Given the description of an element on the screen output the (x, y) to click on. 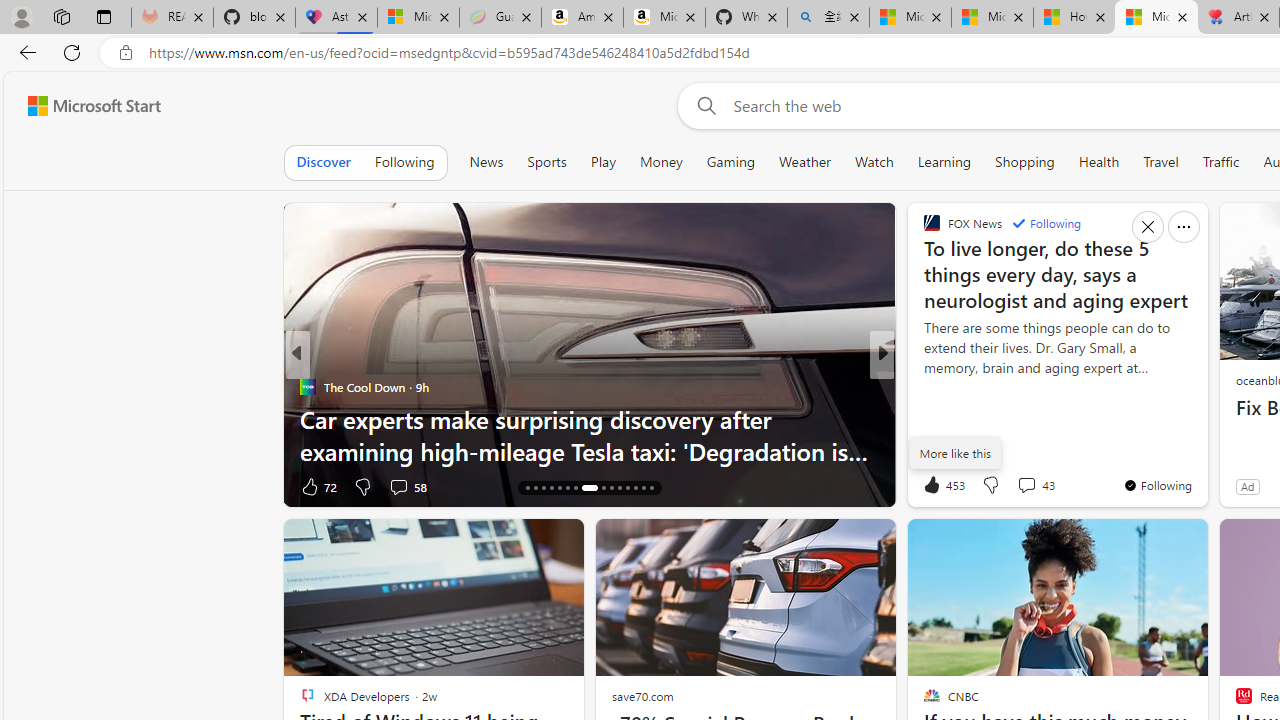
AutomationID: tab-29 (642, 487)
FOX News (923, 386)
save70.com (642, 696)
2k Like (933, 486)
INSIDER (923, 386)
453 Like (942, 484)
AutomationID: tab-17 (535, 487)
View comments 197 Comment (1032, 486)
View comments 7 Comment (1026, 486)
